Given the description of an element on the screen output the (x, y) to click on. 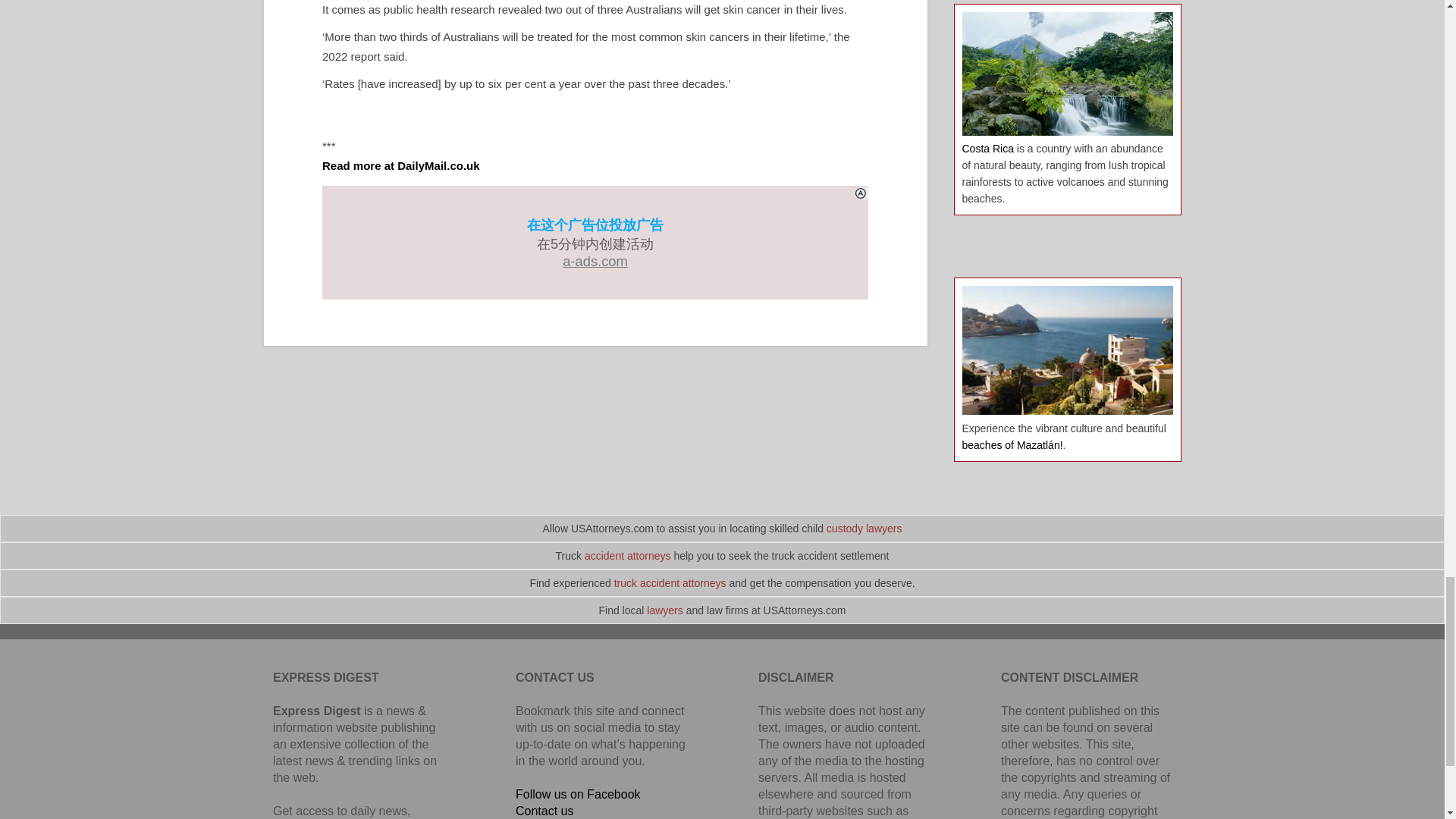
accident attorneys (628, 555)
lawyers (664, 610)
custody lawyers (864, 528)
Costa Rica (986, 148)
Read more at DailyMail.co.uk (400, 164)
truck accident attorneys (670, 582)
